Given the description of an element on the screen output the (x, y) to click on. 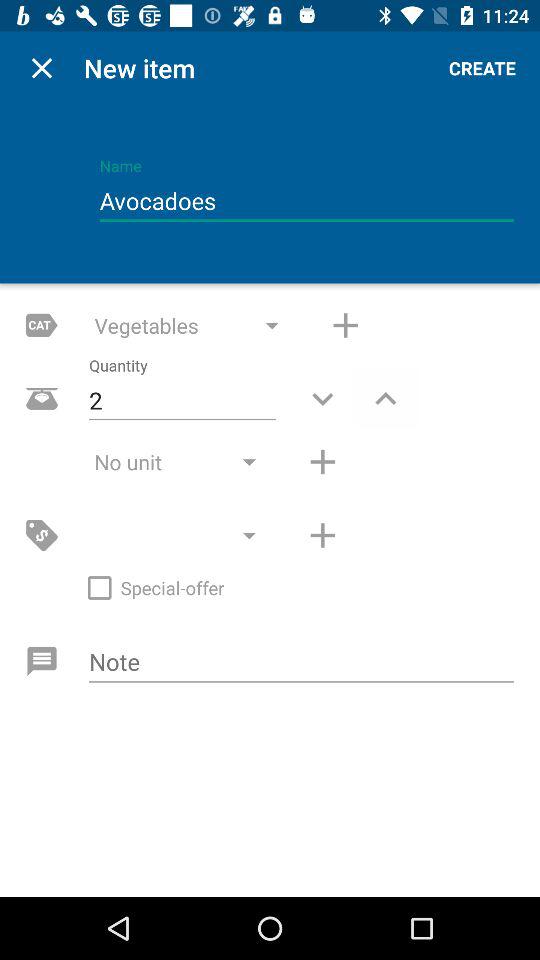
go to incerase (345, 325)
